Given the description of an element on the screen output the (x, y) to click on. 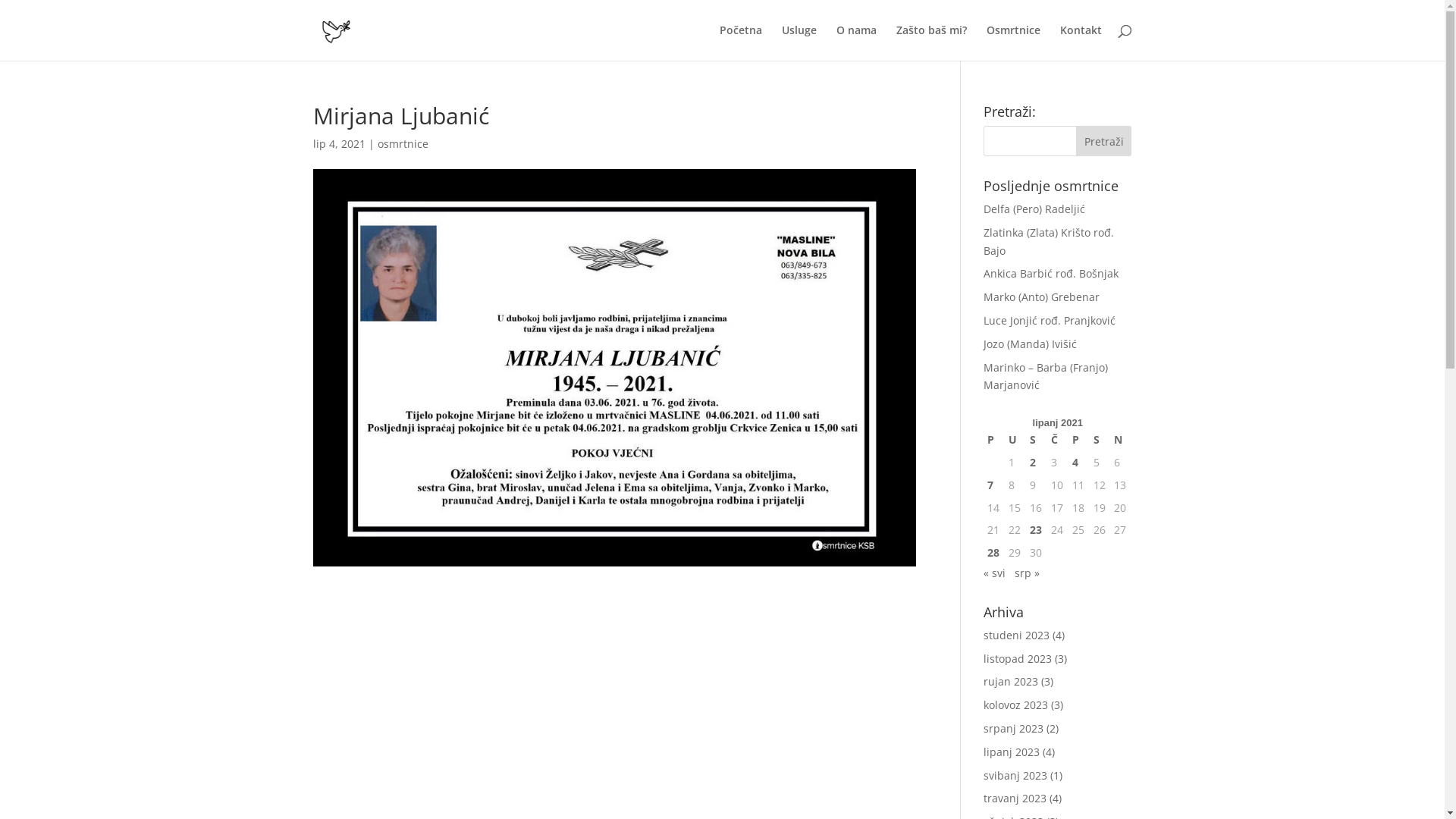
listopad 2023 Element type: text (1017, 658)
23 Element type: text (1036, 529)
osmrtnice Element type: text (402, 143)
2 Element type: text (1036, 462)
lipanj 2023 Element type: text (1011, 751)
Osmrtnice Element type: text (1012, 42)
travanj 2023 Element type: text (1014, 797)
O nama Element type: text (855, 42)
4 Element type: text (1078, 462)
srpanj 2023 Element type: text (1013, 728)
Kontakt Element type: text (1080, 42)
kolovoz 2023 Element type: text (1015, 704)
Marko (Anto) Grebenar Element type: text (1041, 296)
svibanj 2023 Element type: text (1015, 775)
rujan 2023 Element type: text (1010, 681)
28 Element type: text (994, 552)
studeni 2023 Element type: text (1016, 634)
7 Element type: text (994, 485)
Usluge Element type: text (798, 42)
